Given the description of an element on the screen output the (x, y) to click on. 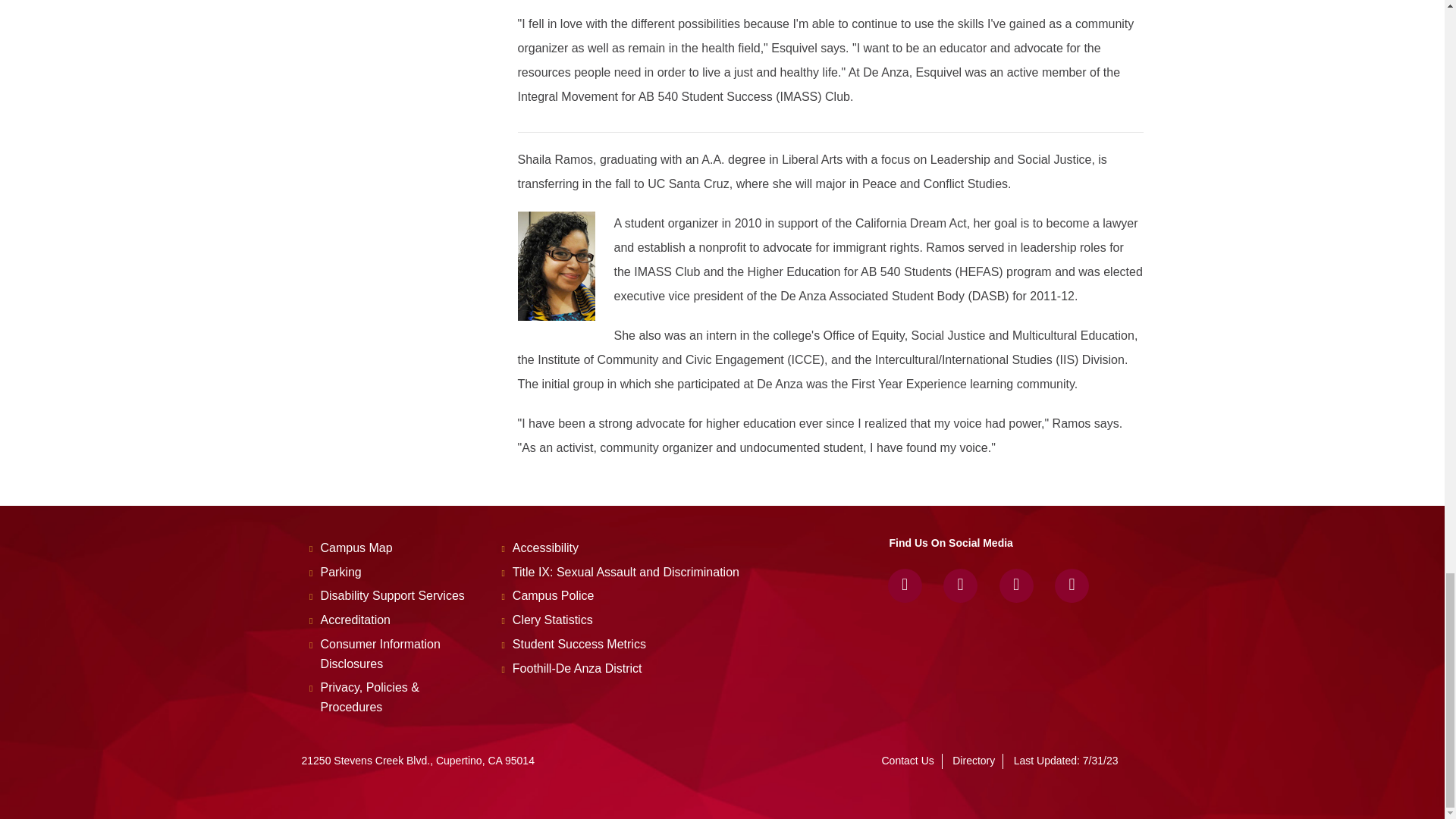
Youtube (1071, 585)
Facebook (904, 585)
Parking (340, 571)
Disability Support Services (392, 594)
Twitter (959, 585)
Instagram (1015, 585)
Campus Map (355, 547)
